Given the description of an element on the screen output the (x, y) to click on. 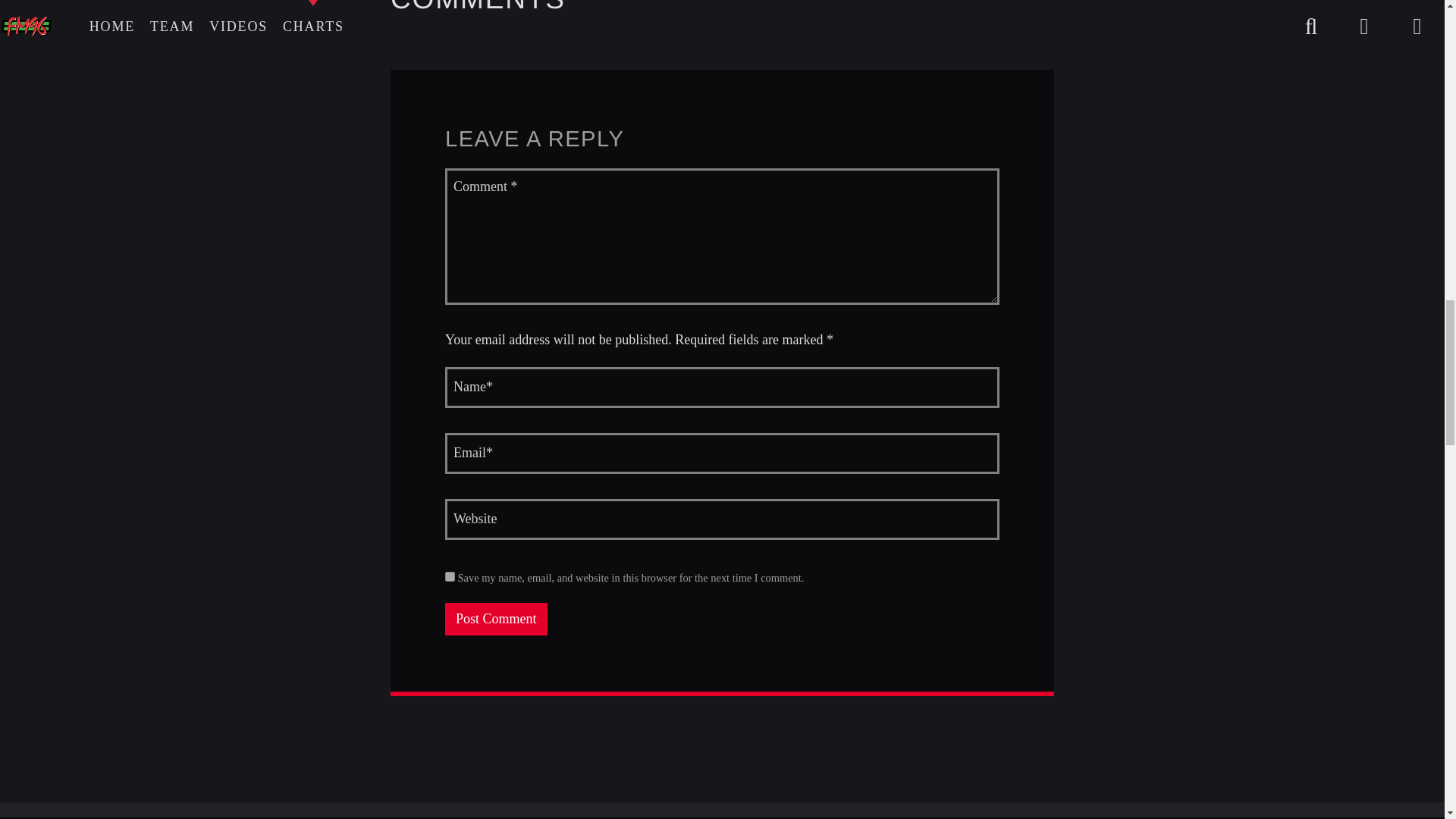
Post Comment (496, 618)
yes (449, 576)
